Given the description of an element on the screen output the (x, y) to click on. 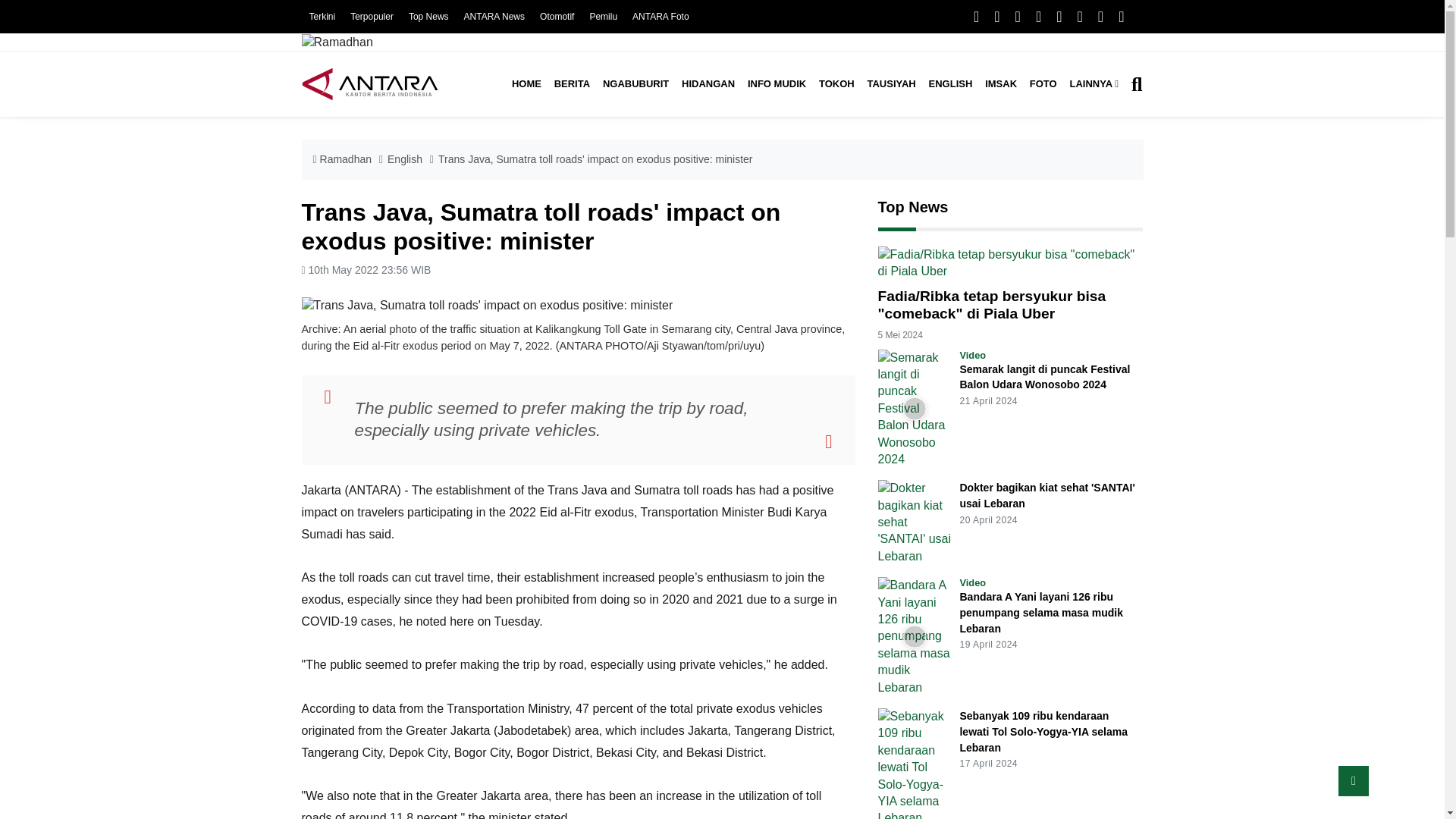
TAUSIYAH (890, 84)
Top News (428, 16)
ANTARA Foto (659, 16)
Berita Terkini (322, 16)
Otomotif (556, 16)
NGABUBURIT (635, 84)
Berita Top News (428, 16)
ANTARA Foto (659, 16)
INFO MUDIK (776, 84)
HIDANGAN (708, 84)
Info Mudik (776, 84)
ANTARA Pemilu (603, 16)
LAINNYA (1093, 84)
ANTARA Otomotif (556, 16)
Ngabuburit (635, 84)
